Given the description of an element on the screen output the (x, y) to click on. 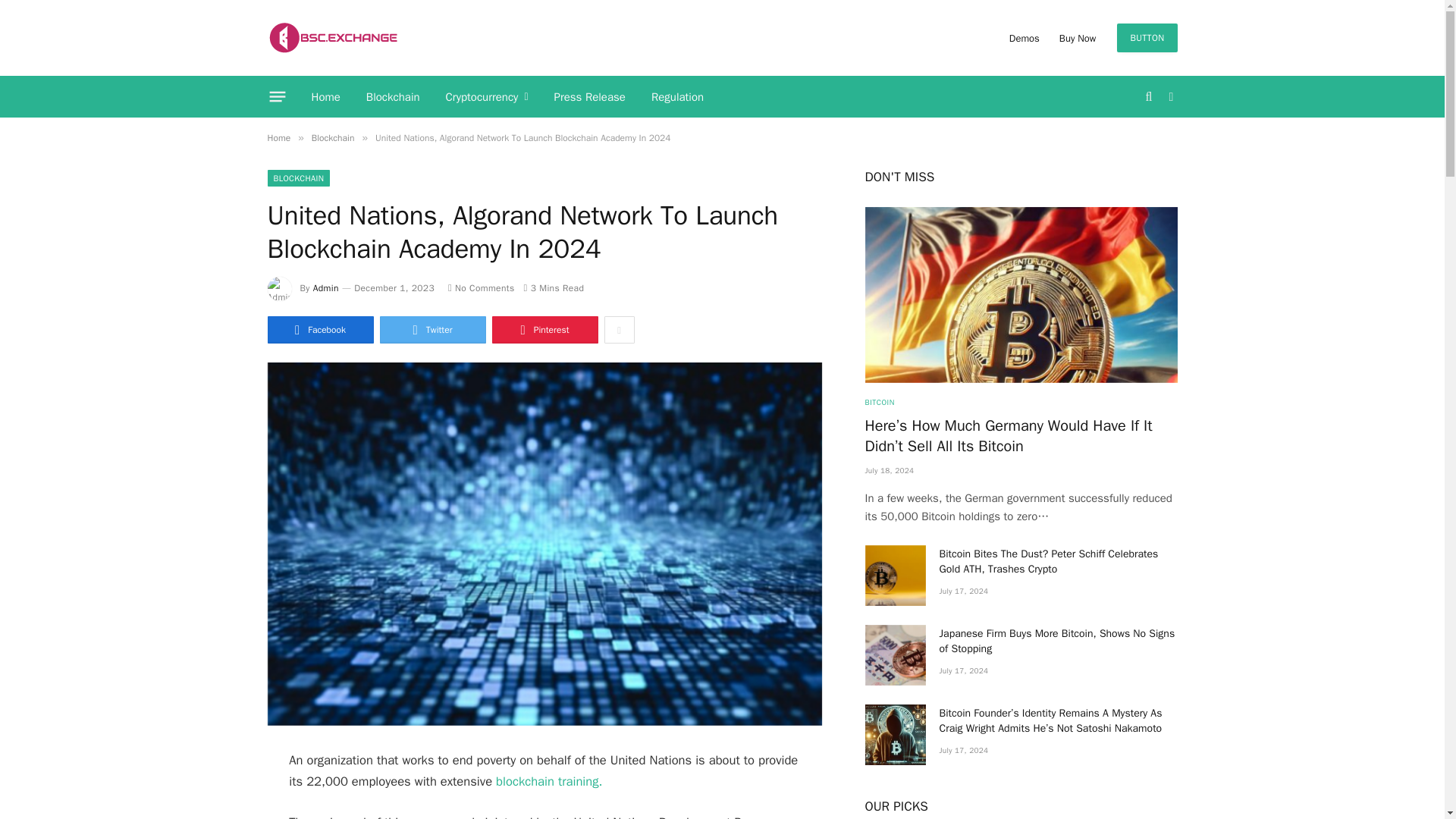
Blockchain (333, 137)
Search (1149, 96)
Pinterest (544, 329)
Twitter (431, 329)
Admin (326, 287)
Demos (1023, 38)
Regulation (677, 96)
BLOCKCHAIN (298, 177)
Switch to Dark Design - easier on eyes. (1168, 96)
No Comments (481, 287)
Home (277, 137)
Cryptocurrency (486, 96)
BUTTON (1146, 37)
Home (325, 96)
Posts by Admin (326, 287)
